Given the description of an element on the screen output the (x, y) to click on. 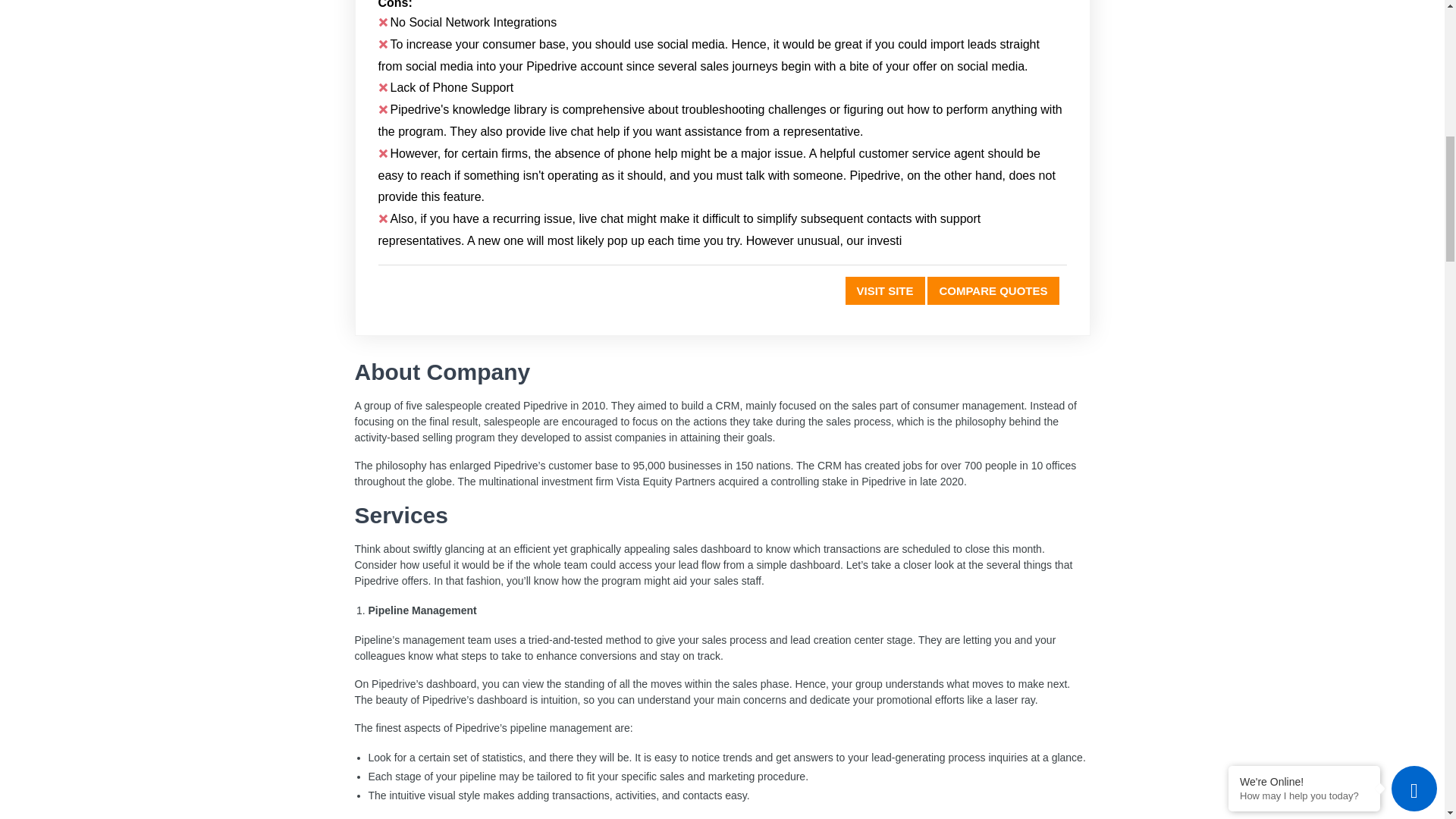
Pipedrive (884, 290)
Pipedrive (992, 290)
